Given the description of an element on the screen output the (x, y) to click on. 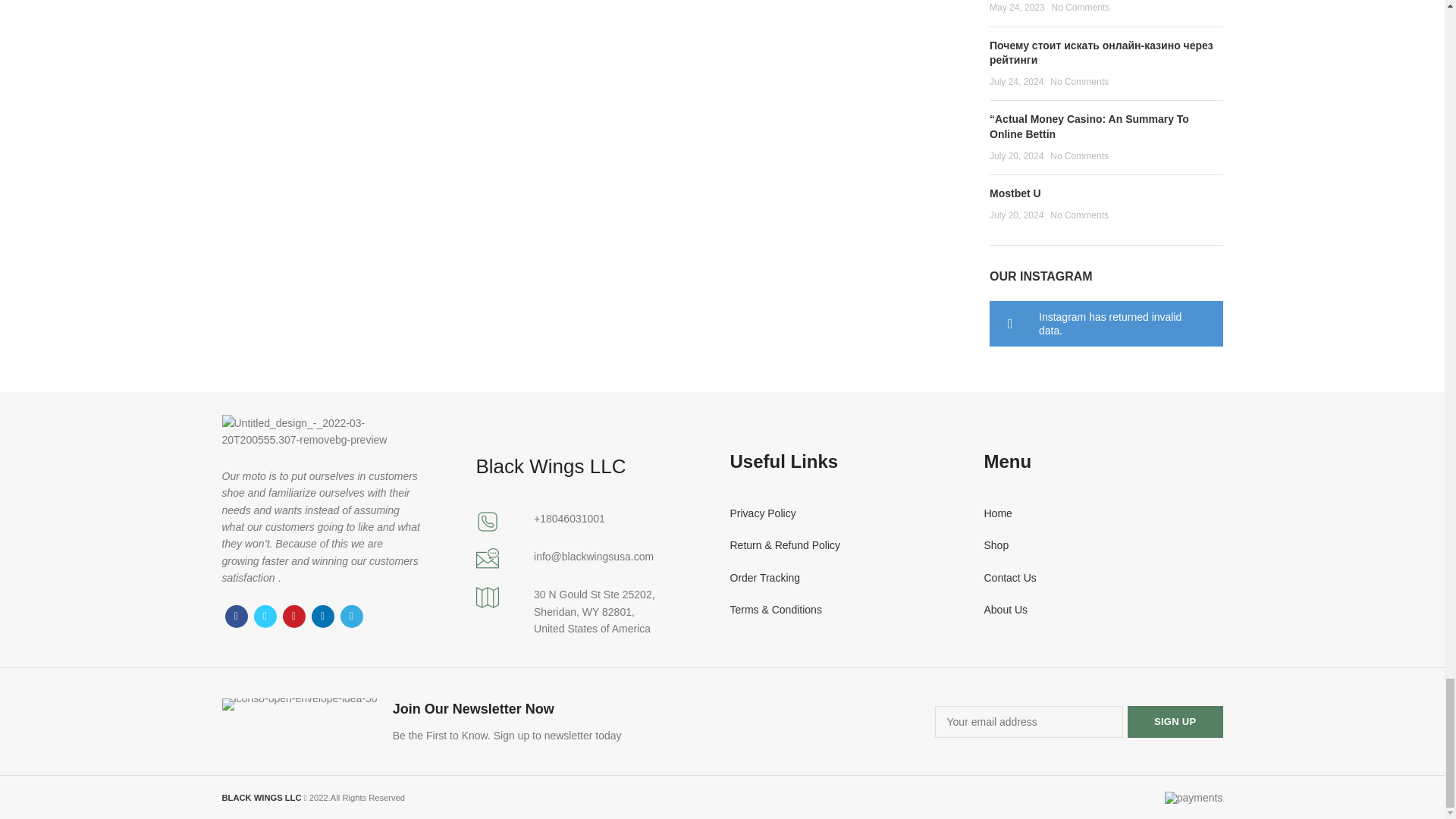
Sign up (1174, 721)
